Given the description of an element on the screen output the (x, y) to click on. 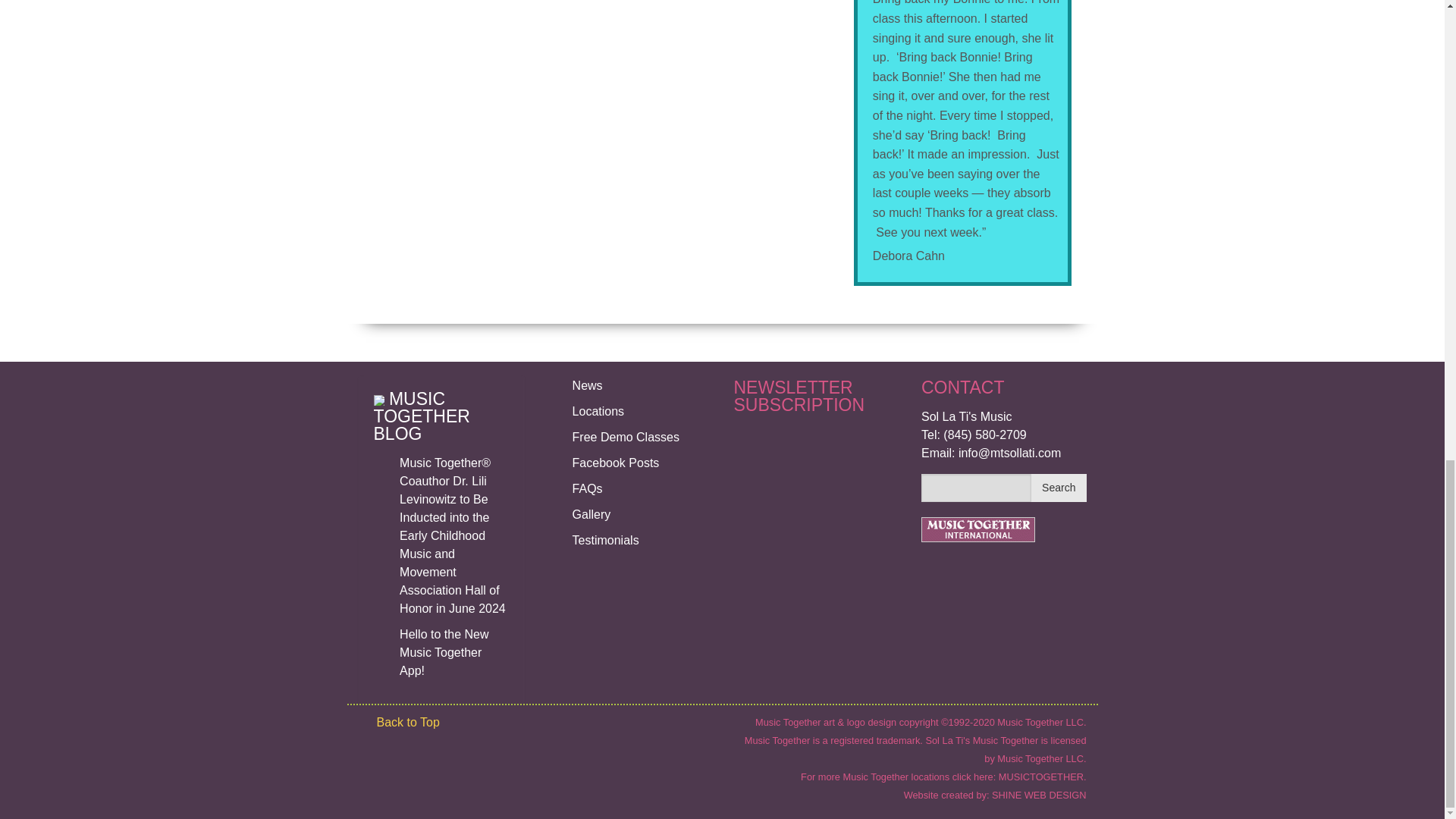
Search (1058, 488)
